Given the description of an element on the screen output the (x, y) to click on. 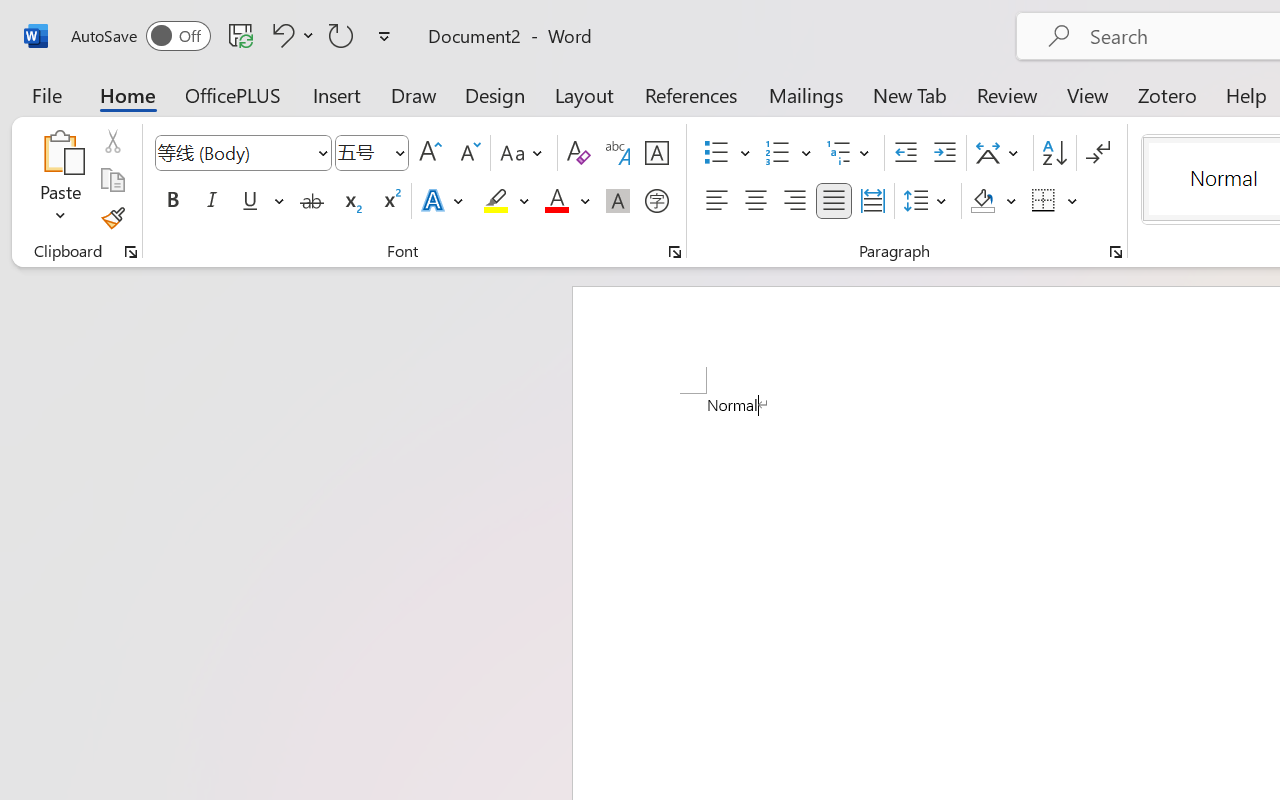
Shrink Font (468, 153)
Paste (60, 151)
